Given the description of an element on the screen output the (x, y) to click on. 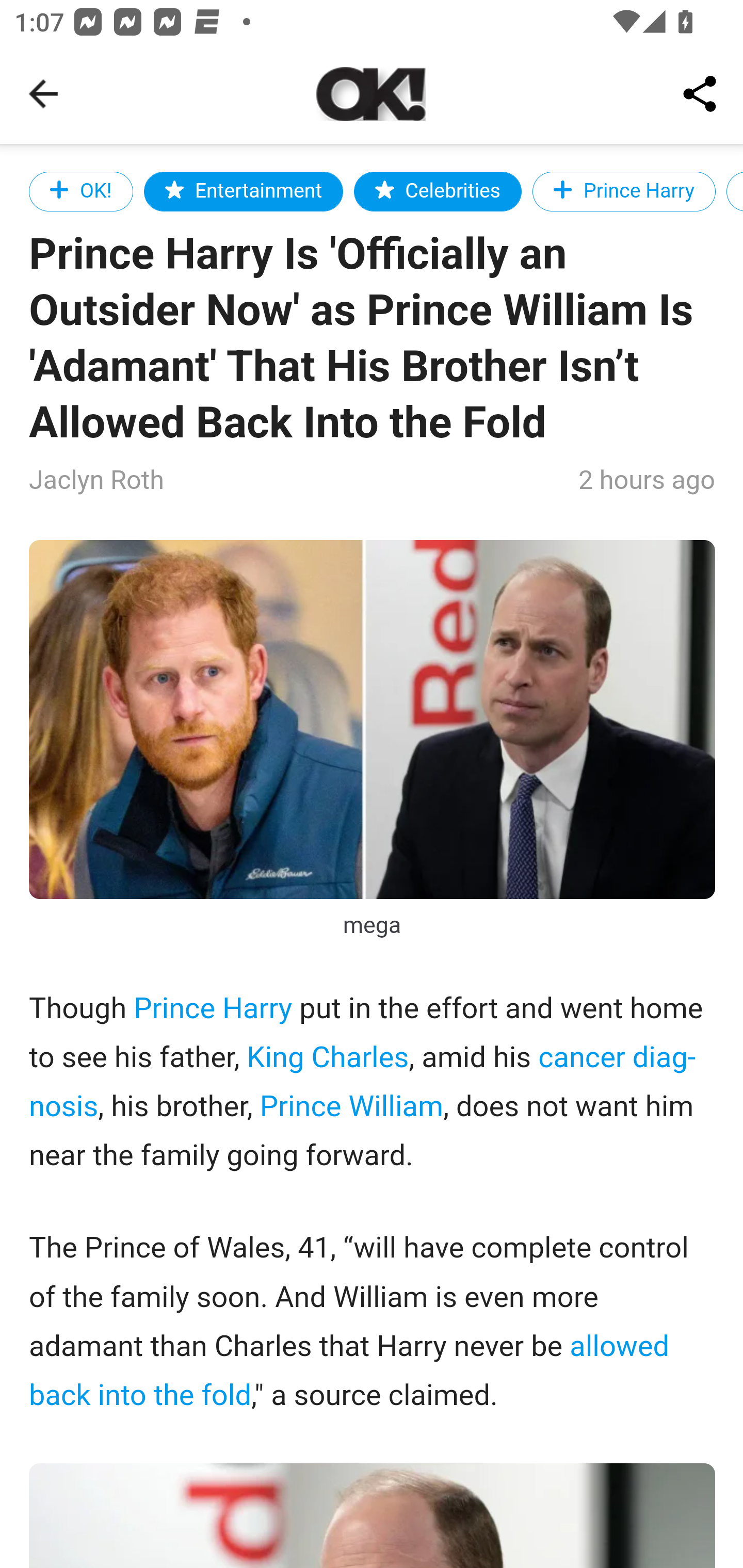
OK! (80, 191)
Entertainment (243, 191)
Celebrities (437, 191)
Prince Harry (623, 191)
Prince Harry (212, 1009)
cancer diagnosis (362, 1082)
King Charles (327, 1057)
Prince William (350, 1106)
allowed back into the fold (348, 1371)
